Given the description of an element on the screen output the (x, y) to click on. 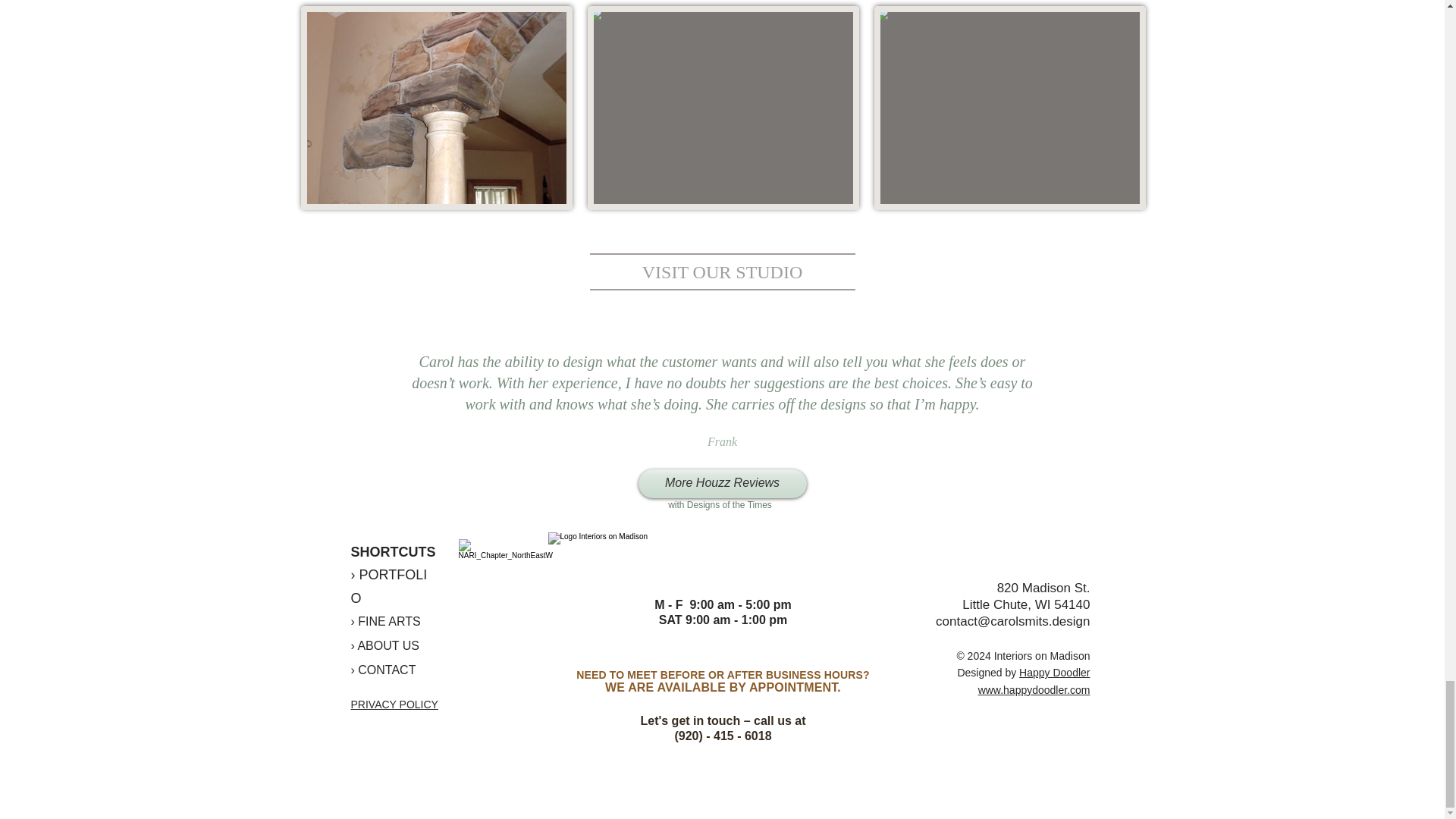
www.happydoodler.com (1034, 689)
PRIVACY POLICY (394, 704)
 CONTACT (385, 669)
More Houzz Reviews (722, 483)
FINE ARTS (389, 621)
VISIT OUR STUDIO (722, 271)
 PORTFOLIO (388, 586)
 ABOUT US (387, 645)
Happy Doodler (1054, 672)
